Given the description of an element on the screen output the (x, y) to click on. 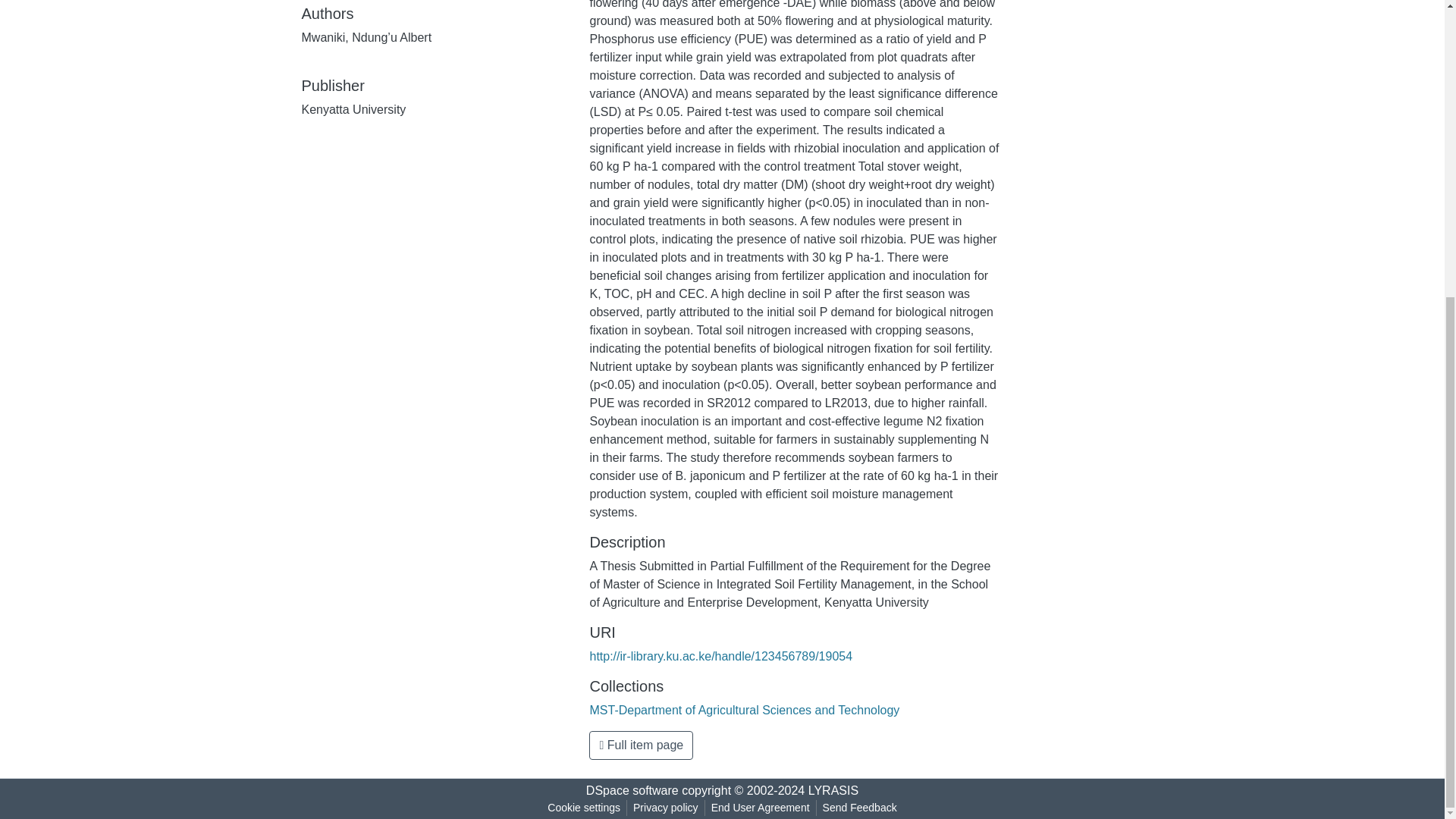
DSpace software (632, 789)
LYRASIS (833, 789)
Send Feedback (859, 807)
Full item page (641, 745)
Cookie settings (583, 807)
Privacy policy (665, 807)
MST-Department of Agricultural Sciences and Technology (744, 709)
End User Agreement (759, 807)
